Given the description of an element on the screen output the (x, y) to click on. 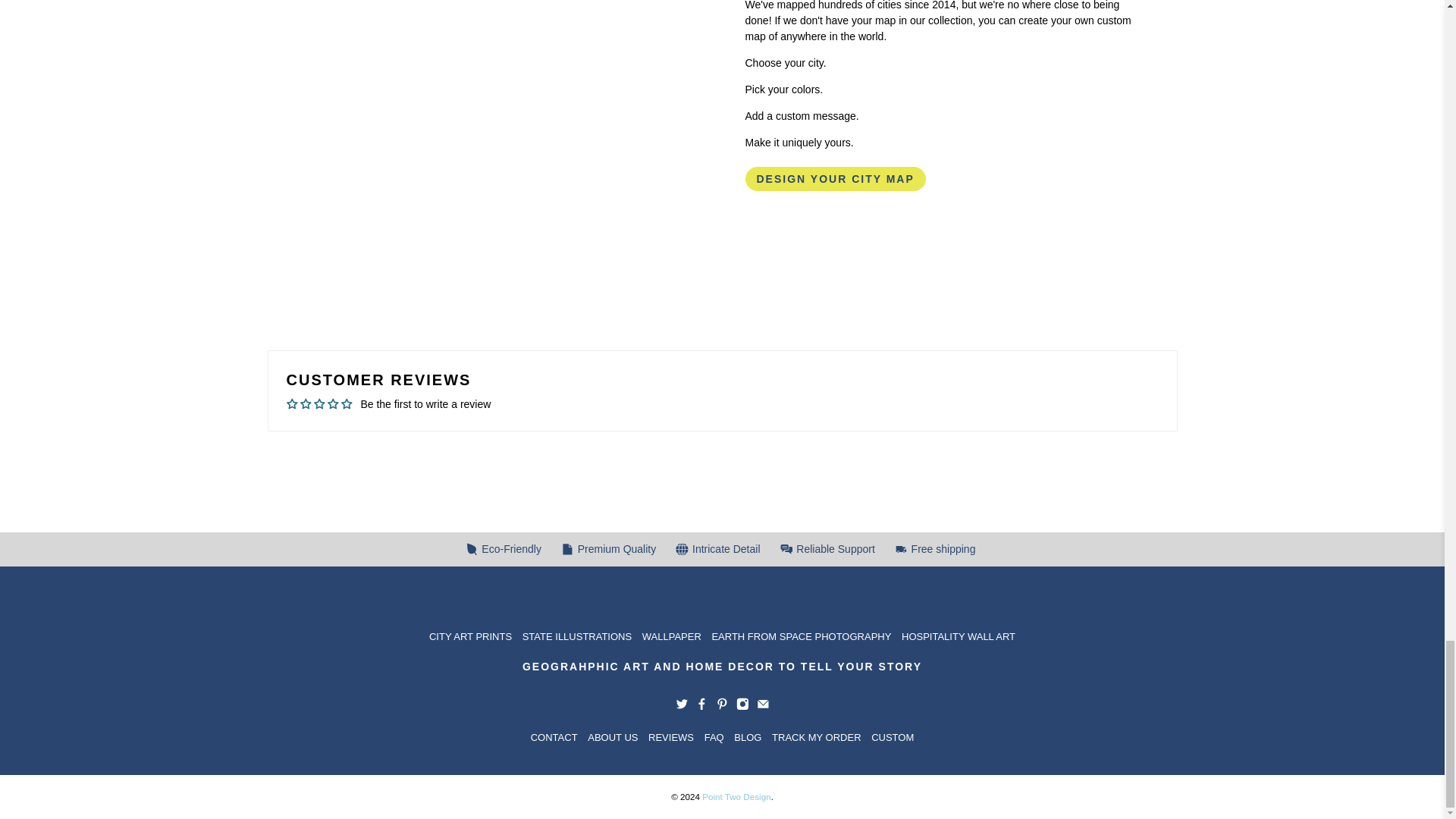
Email Point Two Design (763, 706)
Point Two Design on Instagram (742, 706)
Point Two Design (721, 597)
Point Two Design on Pinterest (722, 706)
Point Two Design on Twitter (681, 706)
Point Two Design on Facebook (701, 706)
